Given the description of an element on the screen output the (x, y) to click on. 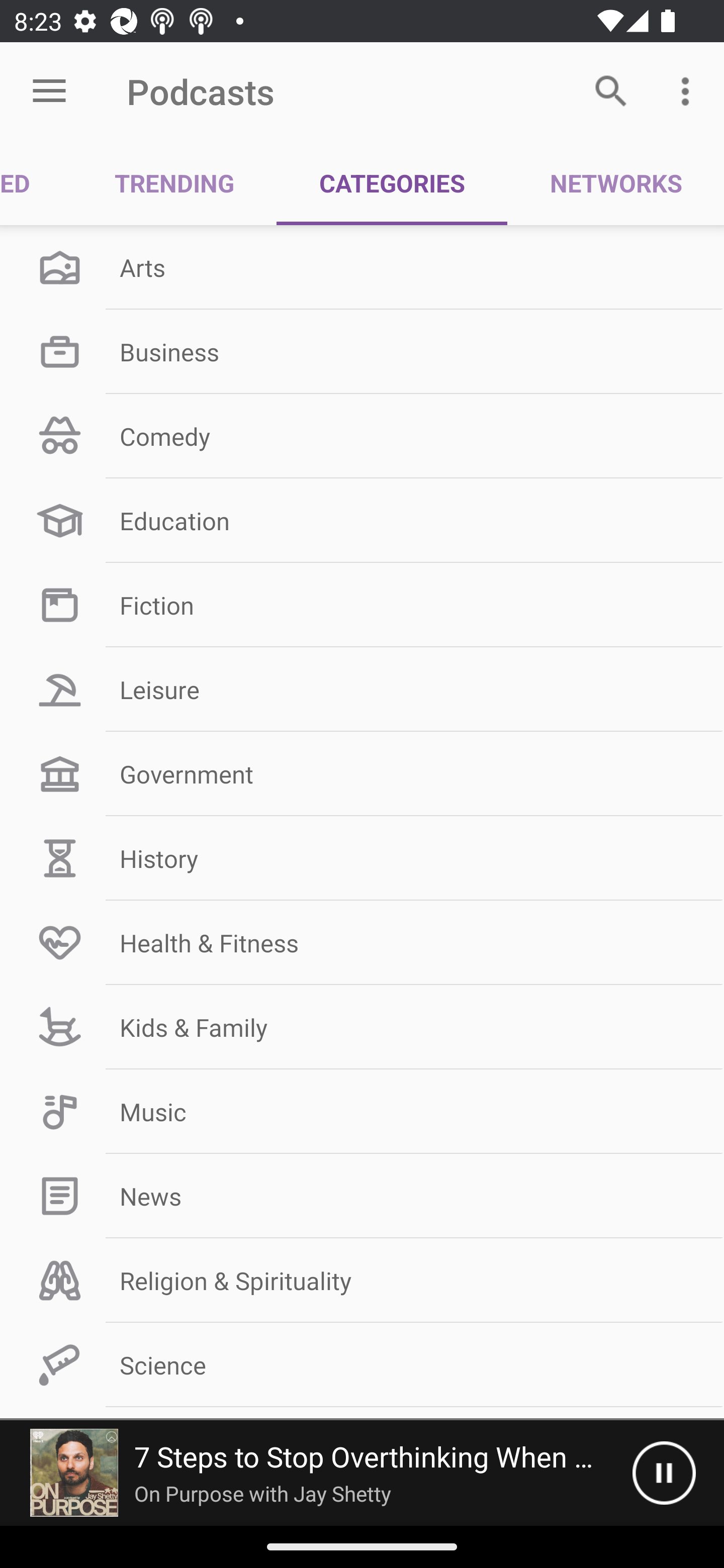
Open menu (49, 91)
Search (611, 90)
More options (688, 90)
TRENDING (174, 183)
CATEGORIES (391, 183)
NETWORKS (615, 183)
Arts (362, 266)
Business (362, 350)
Comedy (362, 435)
Education (362, 520)
Fiction (362, 604)
Leisure (362, 689)
Government (362, 774)
History (362, 858)
Health & Fitness (362, 942)
Kids & Family (362, 1026)
Music (362, 1111)
News (362, 1196)
Religion & Spirituality (362, 1280)
Science (362, 1364)
Pause (663, 1472)
